Given the description of an element on the screen output the (x, y) to click on. 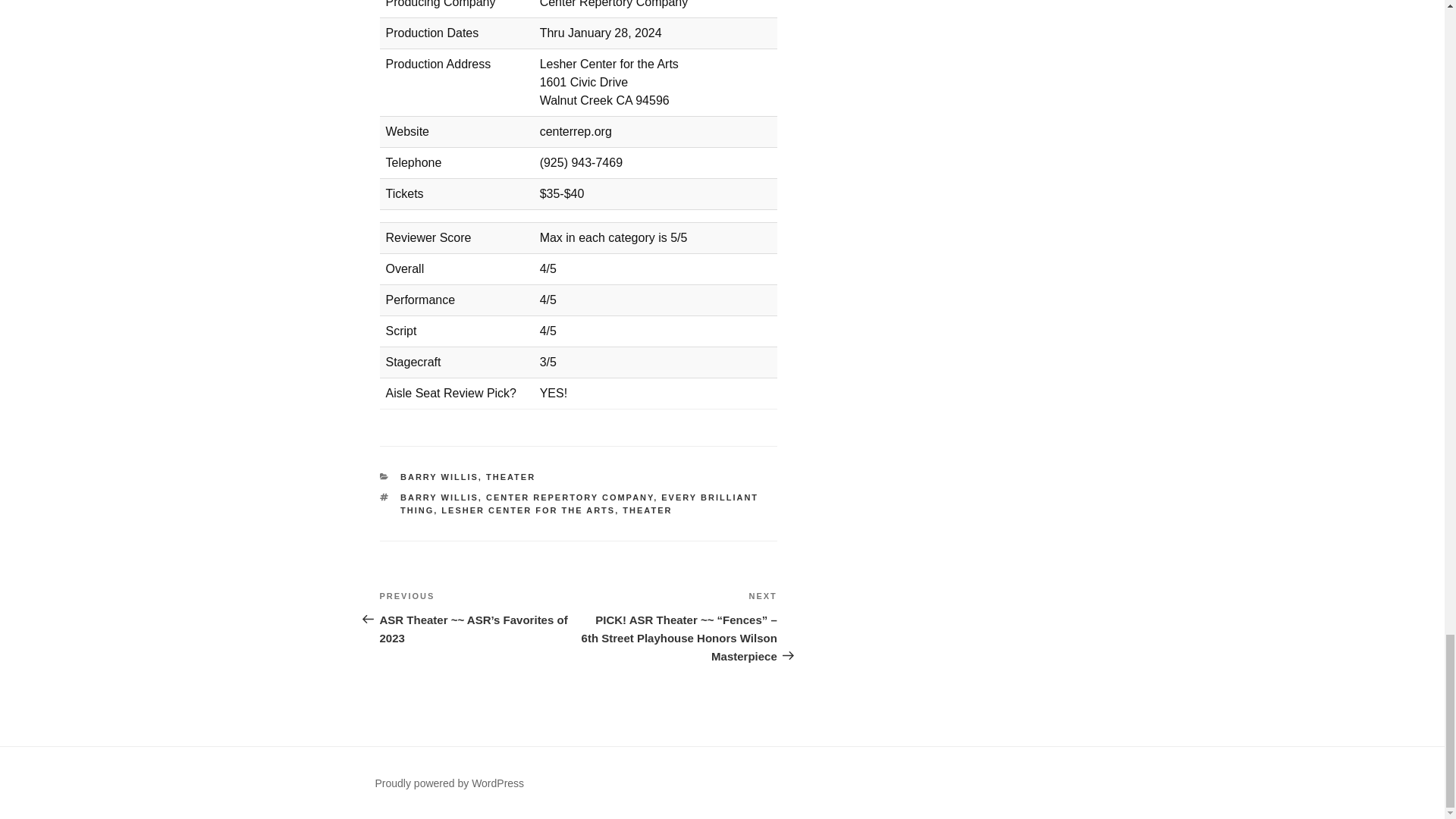
Proudly powered by WordPress (449, 783)
CENTER REPERTORY COMPANY (569, 497)
BARRY WILLIS (439, 476)
LESHER CENTER FOR THE ARTS (527, 510)
EVERY BRILLIANT THING (579, 504)
THEATER (647, 510)
THEATER (510, 476)
BARRY WILLIS (439, 497)
